Given the description of an element on the screen output the (x, y) to click on. 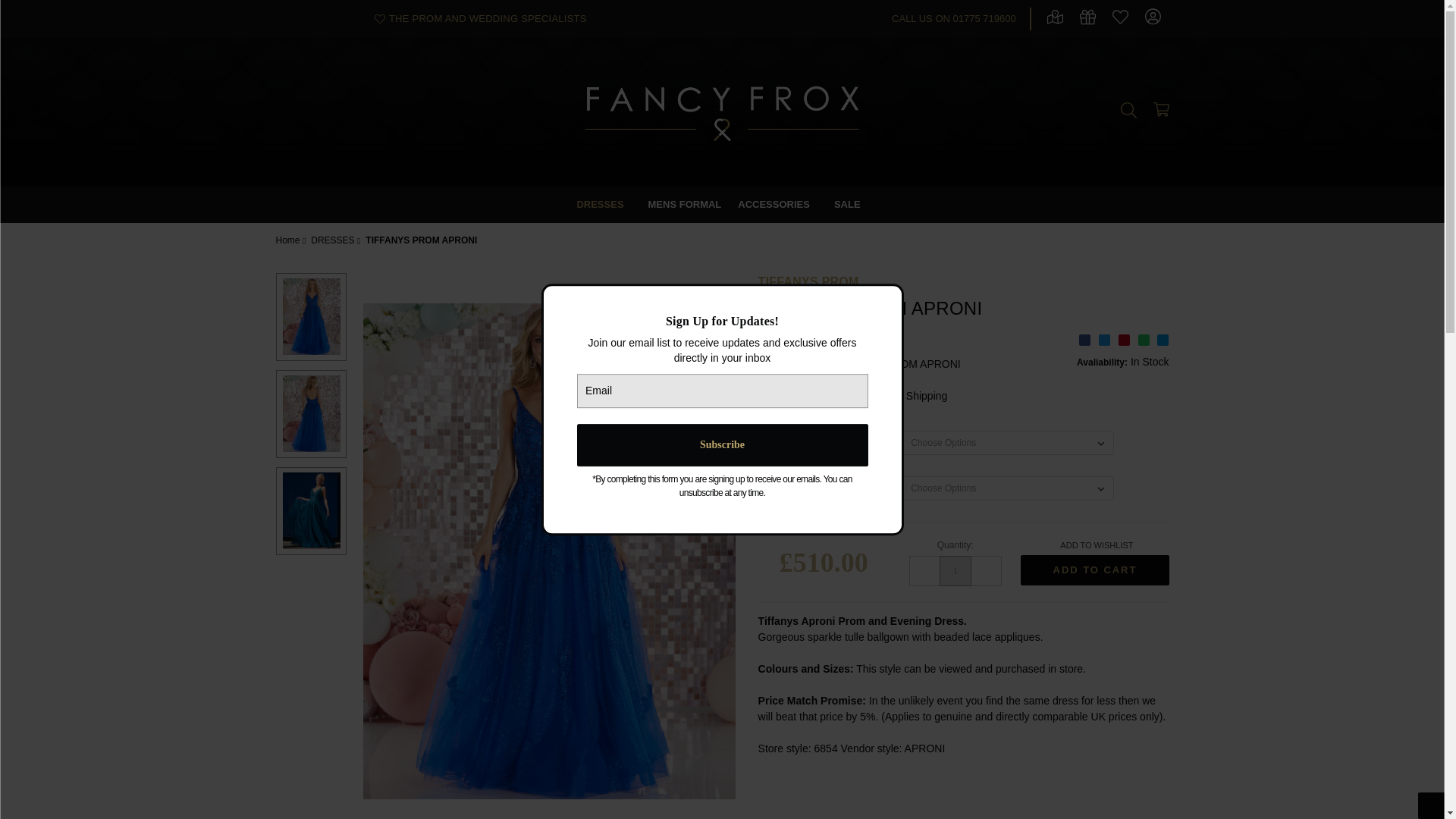
Wish Lists (379, 18)
CALL US ON 01775 719600 (956, 18)
Subscribe (721, 445)
Gift Cetificate (1088, 21)
Add to Cart (1094, 570)
1 (955, 571)
Fancy Frox (721, 112)
DRESSES (603, 204)
Search (1128, 112)
Find Us (1054, 20)
Sign in (1153, 18)
Wish Lists (1120, 21)
